Given the description of an element on the screen output the (x, y) to click on. 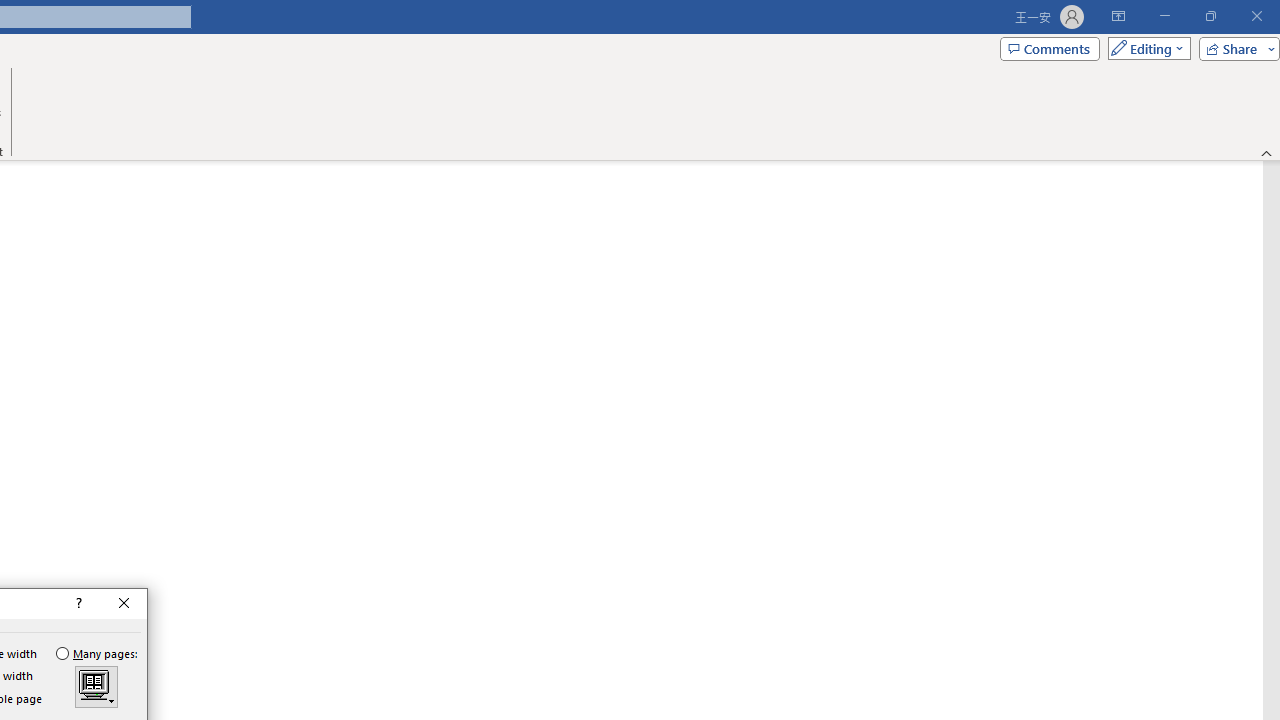
Multiple Pages (96, 687)
Many pages: (98, 653)
Context help (77, 603)
MSO Generic Control Container (96, 687)
